Given the description of an element on the screen output the (x, y) to click on. 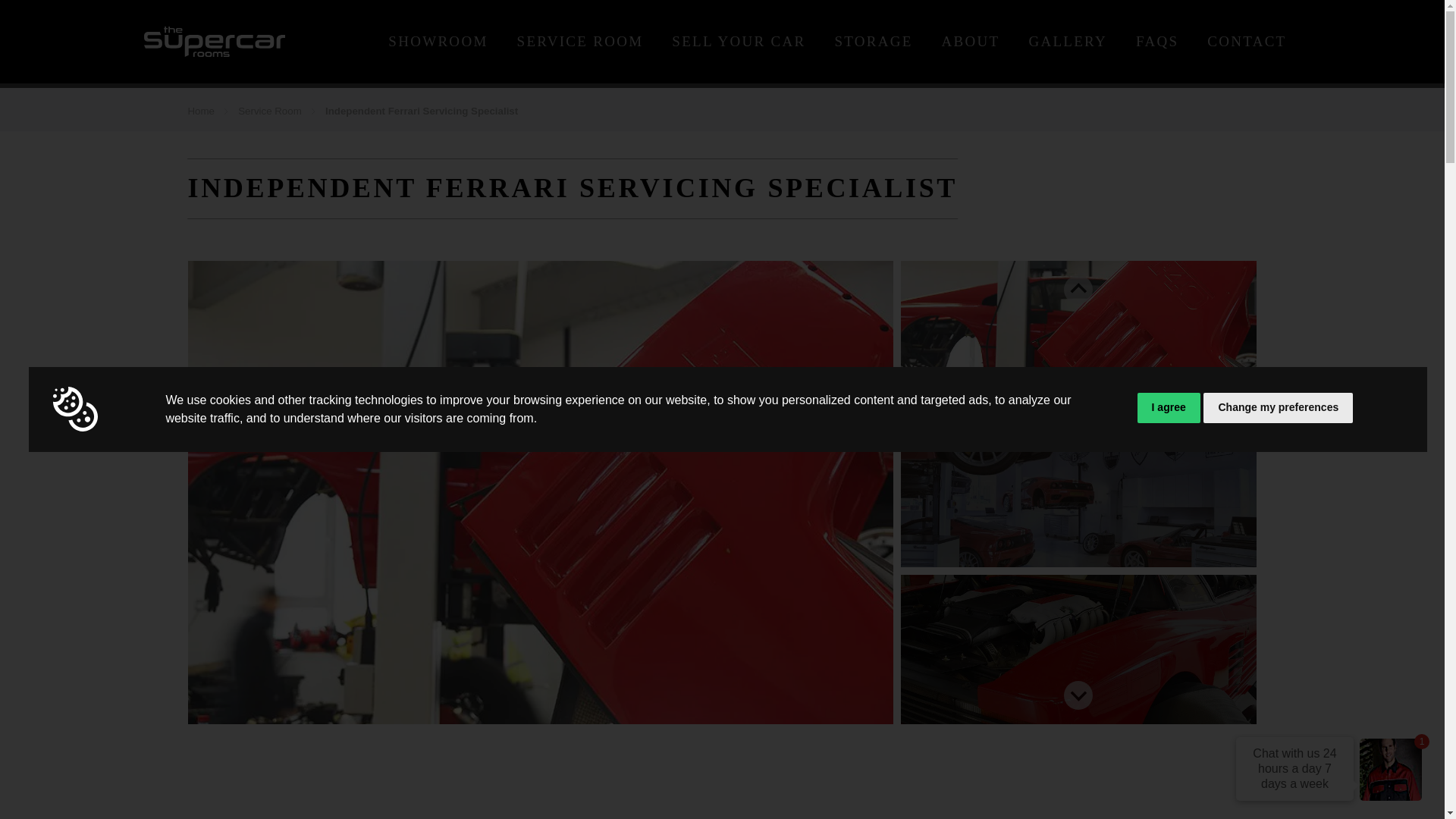
Change my preferences (1278, 408)
SERVICE ROOM (580, 41)
SHOWROOM (438, 41)
The Supercar Rooms (214, 41)
I agree (1168, 408)
